Given the description of an element on the screen output the (x, y) to click on. 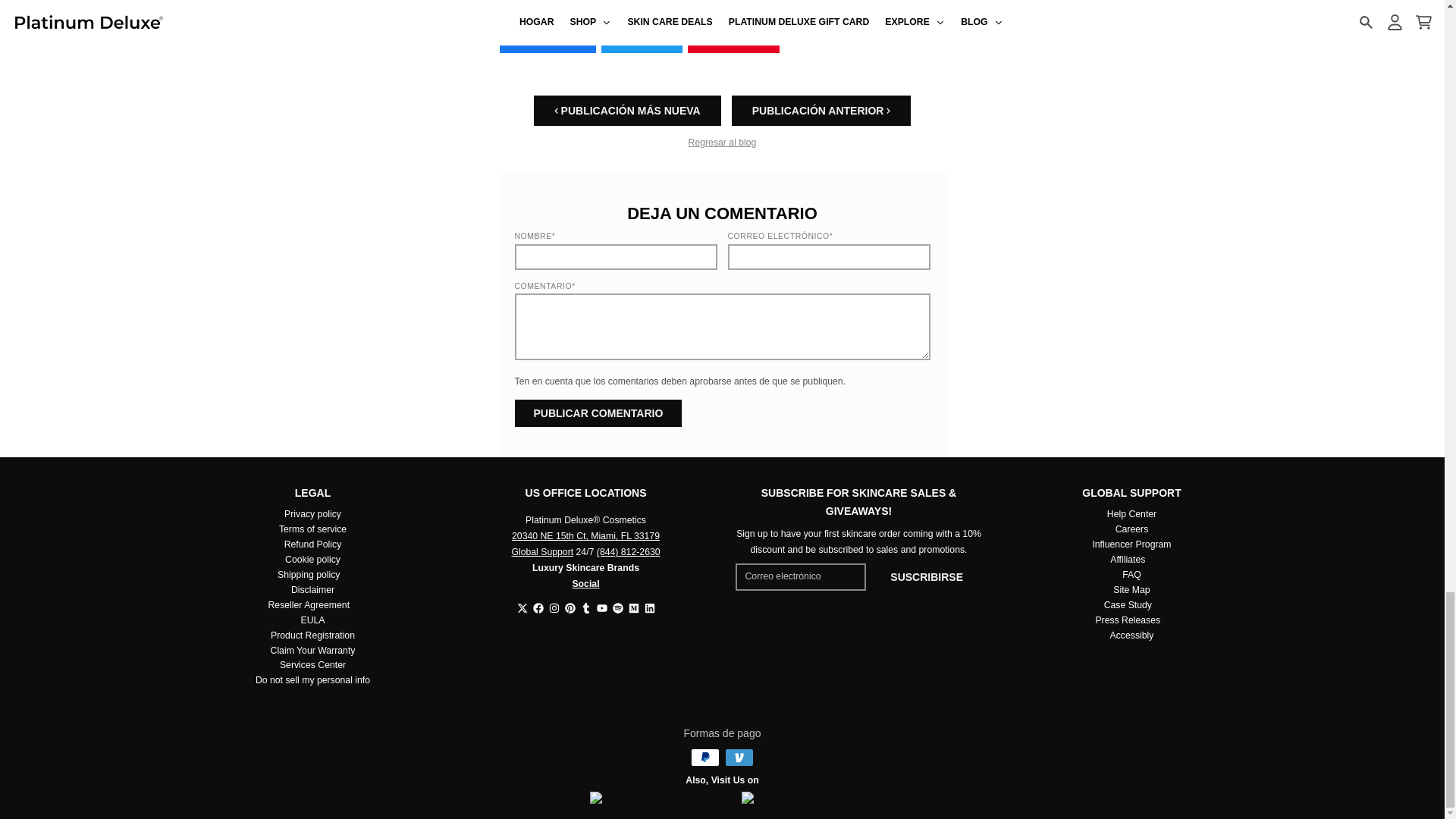
Spotify - Platinum Deluxe Cosmetics (617, 607)
Medium - Platinum Deluxe Cosmetics (633, 607)
Instagram - Platinum Deluxe Cosmetics (553, 607)
Tumblr - Platinum Deluxe Cosmetics (585, 607)
Publicar comentario (597, 412)
YouTube - Platinum Deluxe Cosmetics (601, 607)
LinkedIn - Platinum Deluxe Cosmetics (650, 607)
Pinterest - Platinum Deluxe Cosmetics (569, 607)
Facebook - Platinum Deluxe Cosmetics (537, 607)
Twitter - Platinum Deluxe Cosmetics (521, 607)
